Given the description of an element on the screen output the (x, y) to click on. 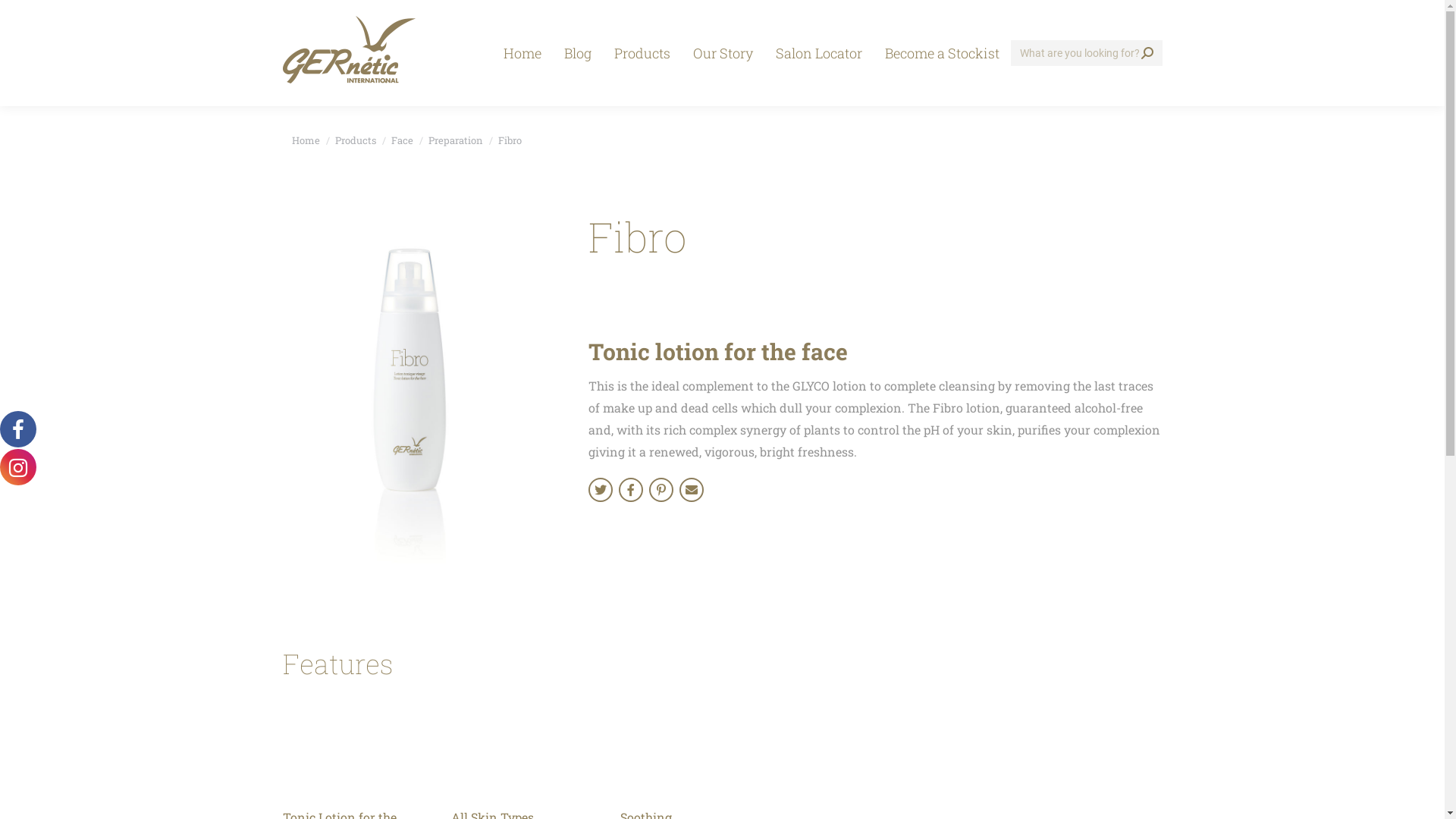
Become a Stockist Element type: text (941, 53)
Home Element type: text (305, 140)
gernetic-fibro Element type: hover (415, 390)
Glyco Element type: text (691, 489)
Face Element type: text (402, 140)
Our Story Element type: text (721, 53)
Twitter Element type: text (600, 489)
Pinterest Element type: text (661, 489)
Go! Element type: text (24, 16)
Preparation Element type: text (454, 140)
Search form Element type: hover (1085, 52)
Products Element type: text (355, 140)
Home Element type: text (521, 53)
Facebook Element type: text (630, 489)
Blog Element type: text (577, 53)
Products Element type: text (641, 53)
Salon Locator Element type: text (818, 53)
